Given the description of an element on the screen output the (x, y) to click on. 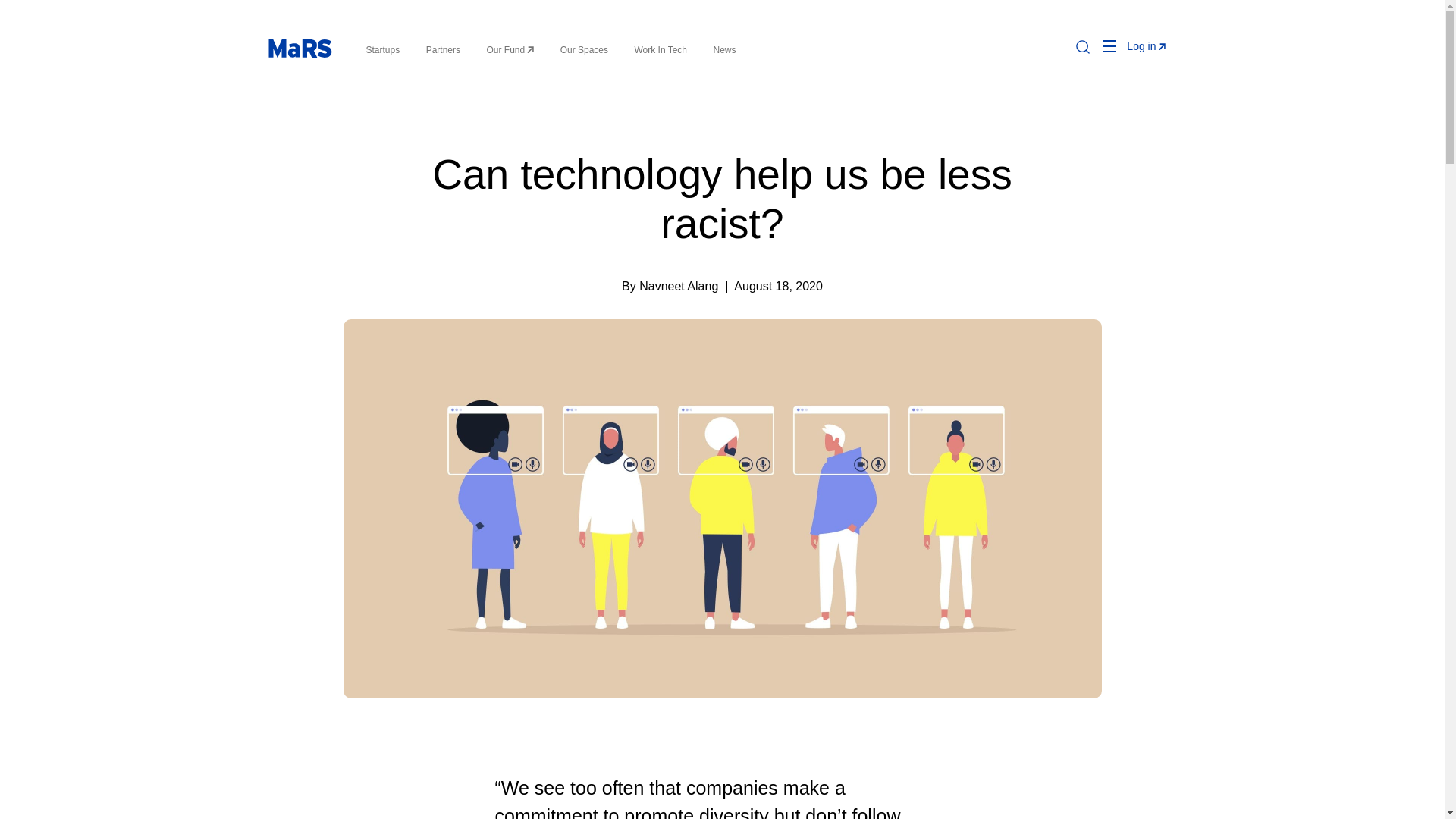
Work In Tech (660, 49)
Our Spaces (584, 49)
Log in (1145, 45)
Startups (381, 49)
News (724, 49)
Our Fund (510, 49)
Partners (443, 49)
MaRS Discovery District (298, 48)
